Given the description of an element on the screen output the (x, y) to click on. 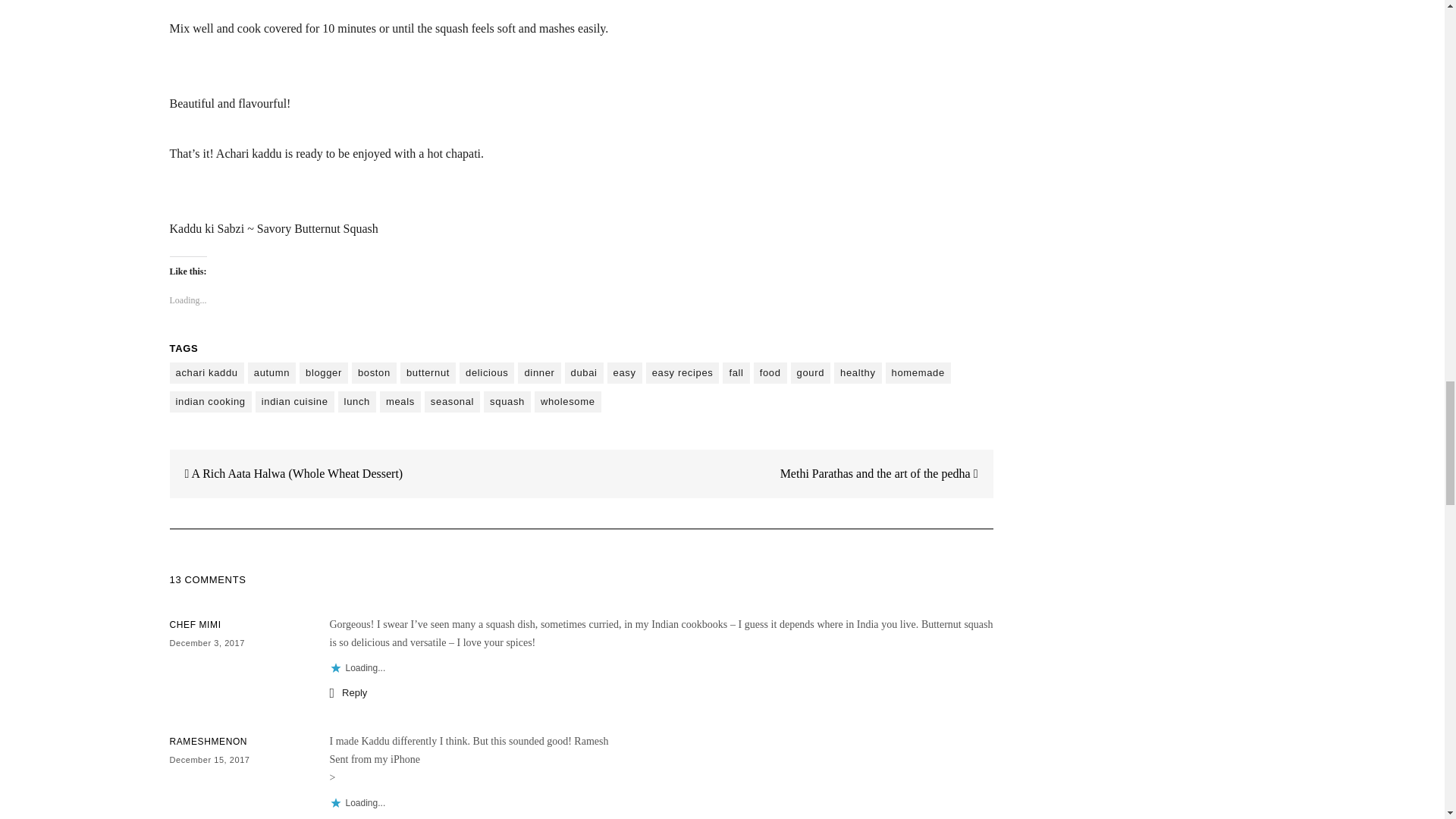
meals (400, 401)
blogger (323, 373)
CHEF MIMI (195, 624)
December 3, 2017 (207, 642)
healthy (857, 373)
Methi Parathas and the art of the pedha (886, 473)
seasonal (452, 401)
wholesome (567, 401)
easy (624, 373)
autumn (271, 373)
